Given the description of an element on the screen output the (x, y) to click on. 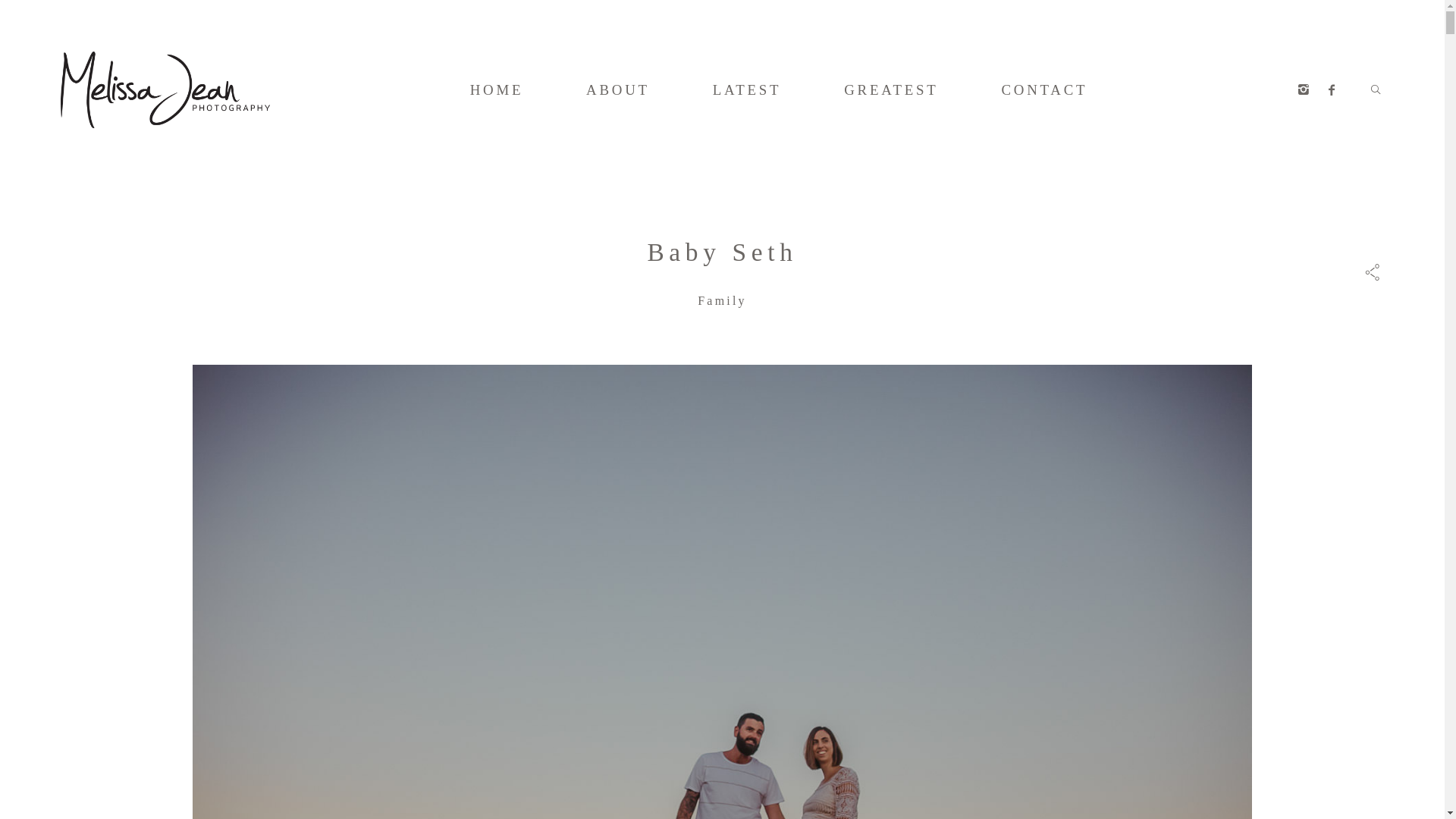
LATEST Element type: text (746, 90)
CONTACT Element type: text (1044, 90)
ABOUT Element type: text (617, 90)
Family Element type: text (721, 300)
GREATEST Element type: text (891, 90)
HOME Element type: text (497, 90)
